Given the description of an element on the screen output the (x, y) to click on. 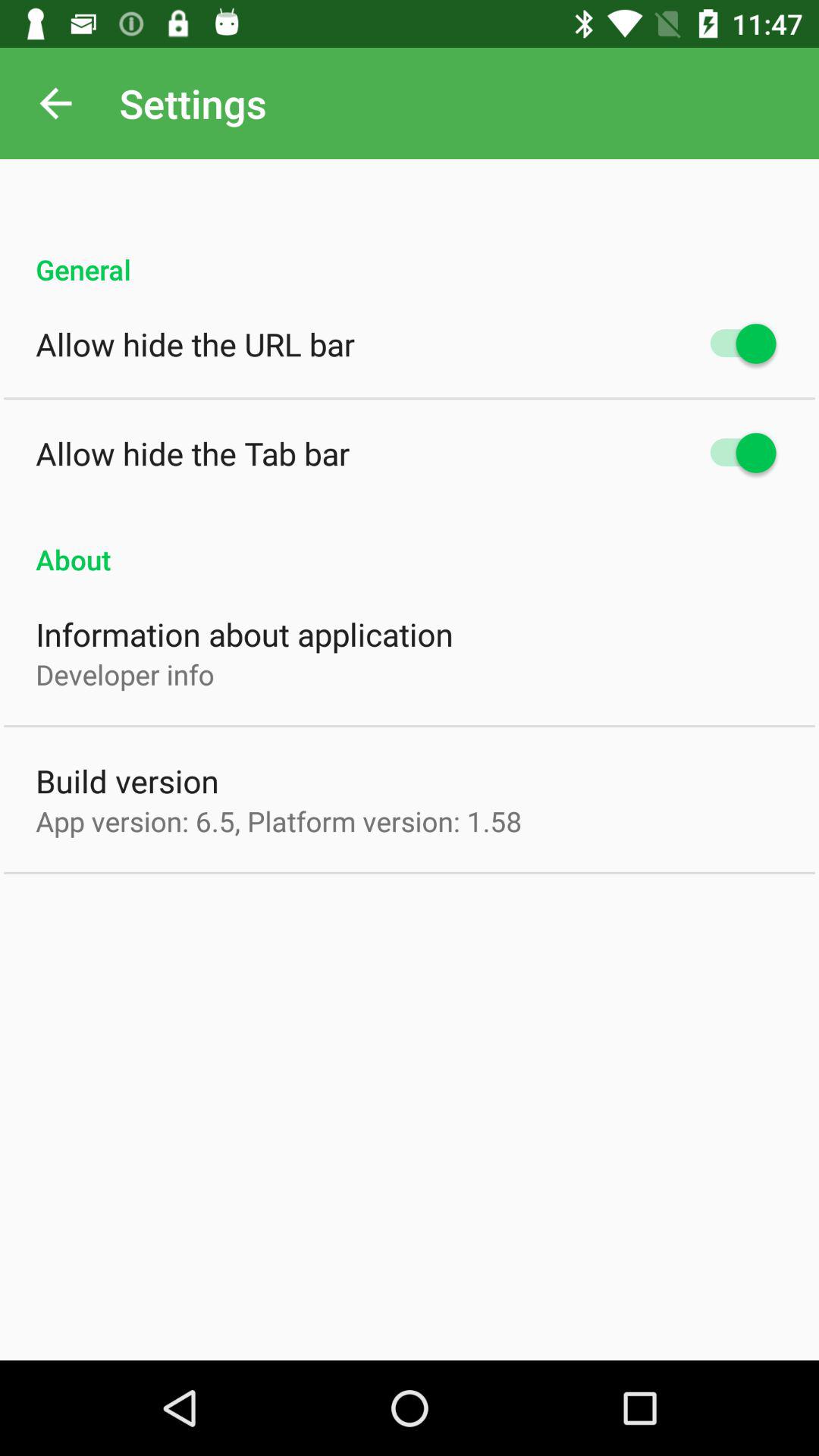
tap the item above app version 6 (126, 780)
